Given the description of an element on the screen output the (x, y) to click on. 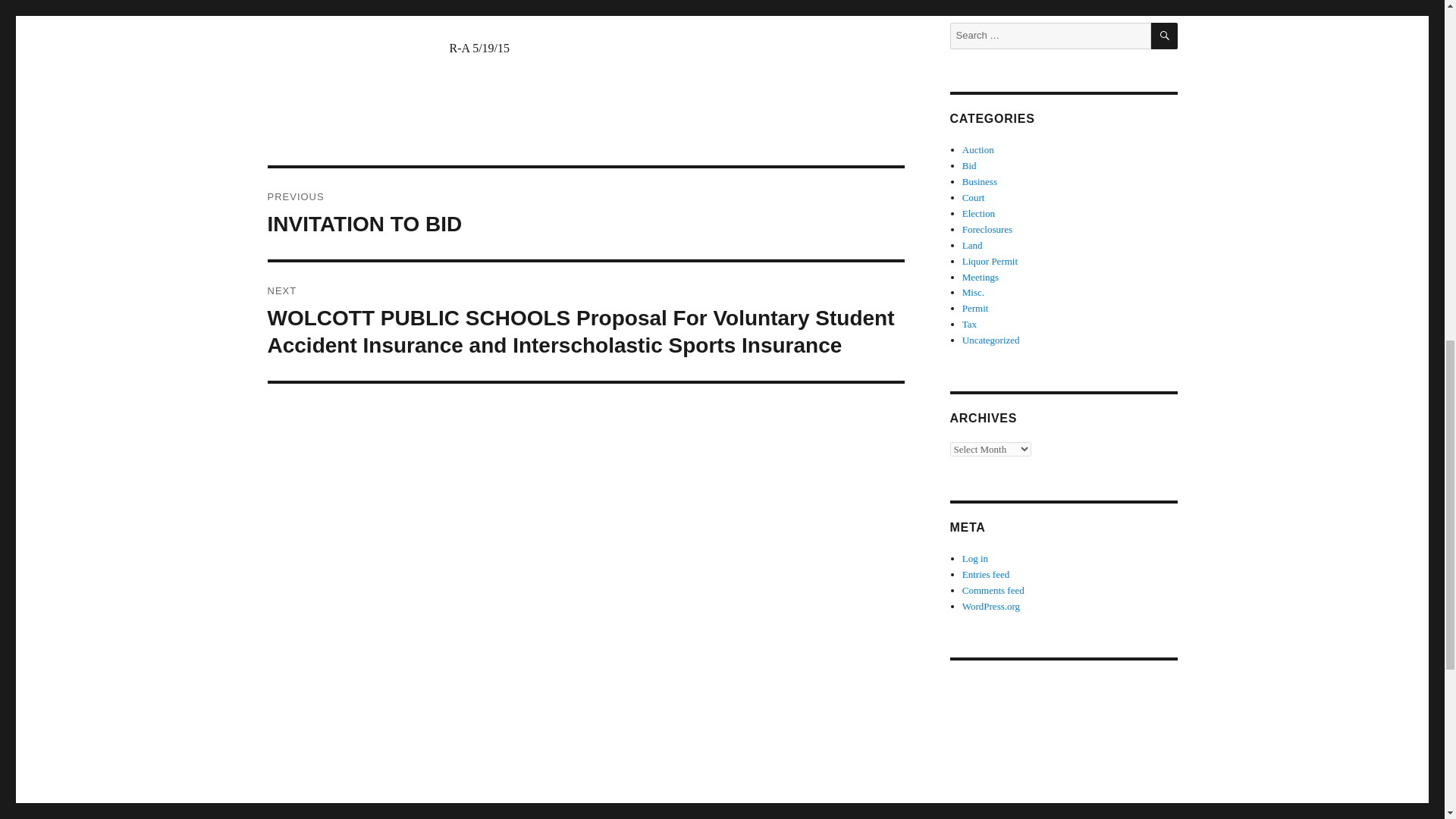
WordPress.org (991, 605)
Uncategorized (991, 339)
Liquor Permit (989, 260)
Entries feed (985, 573)
Misc. (973, 292)
Meetings (585, 213)
Auction (980, 276)
Land (978, 149)
Election (972, 244)
Log in (978, 213)
Court (975, 558)
Bid (973, 197)
SEARCH (969, 165)
